Given the description of an element on the screen output the (x, y) to click on. 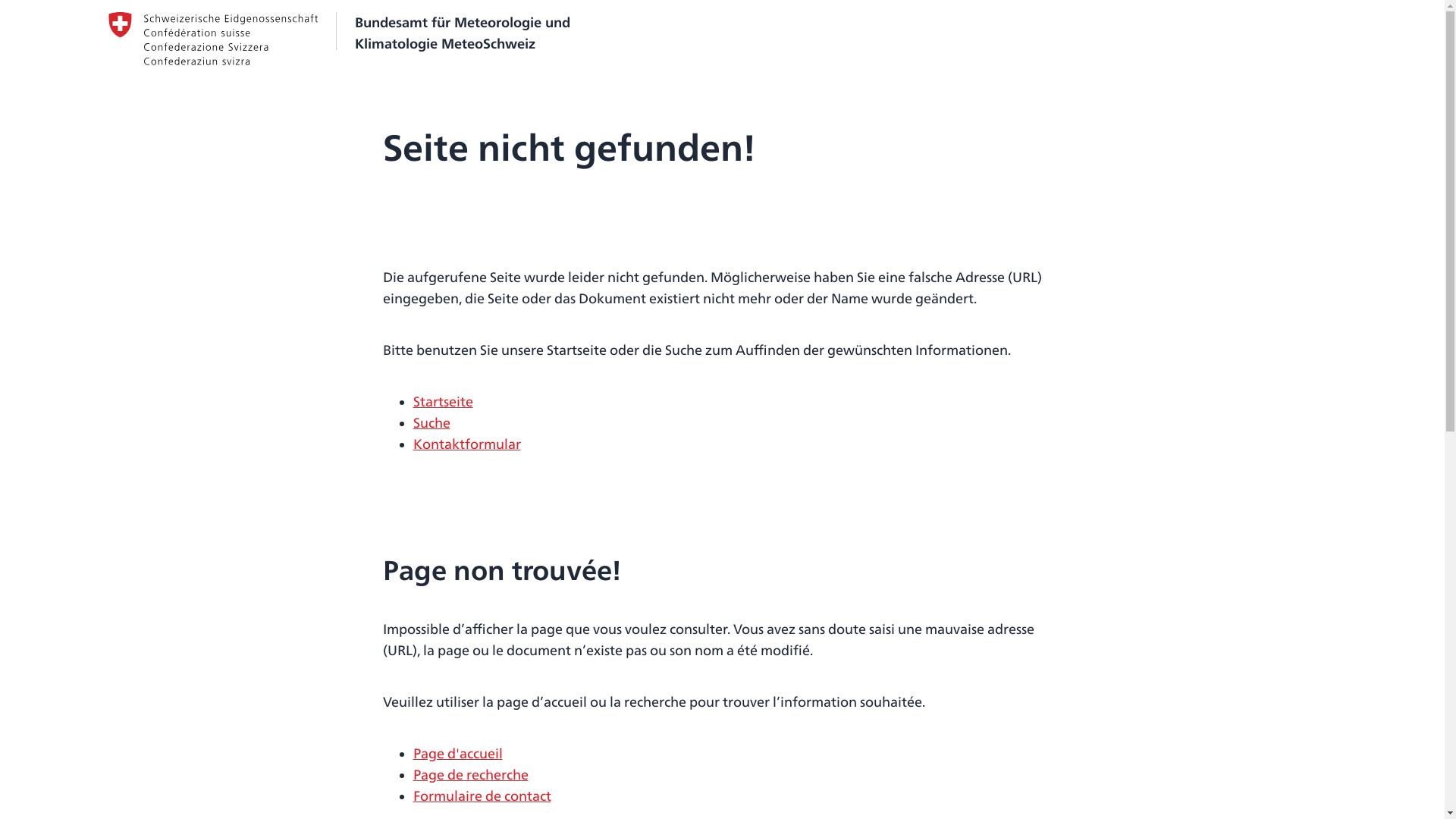
Kontaktformular Element type: text (466, 444)
Startseite Element type: text (442, 401)
Formulaire de contact Element type: text (481, 795)
Suche Element type: text (430, 422)
Page d'accueil Element type: text (457, 753)
Page de recherche Element type: text (469, 774)
